Given the description of an element on the screen output the (x, y) to click on. 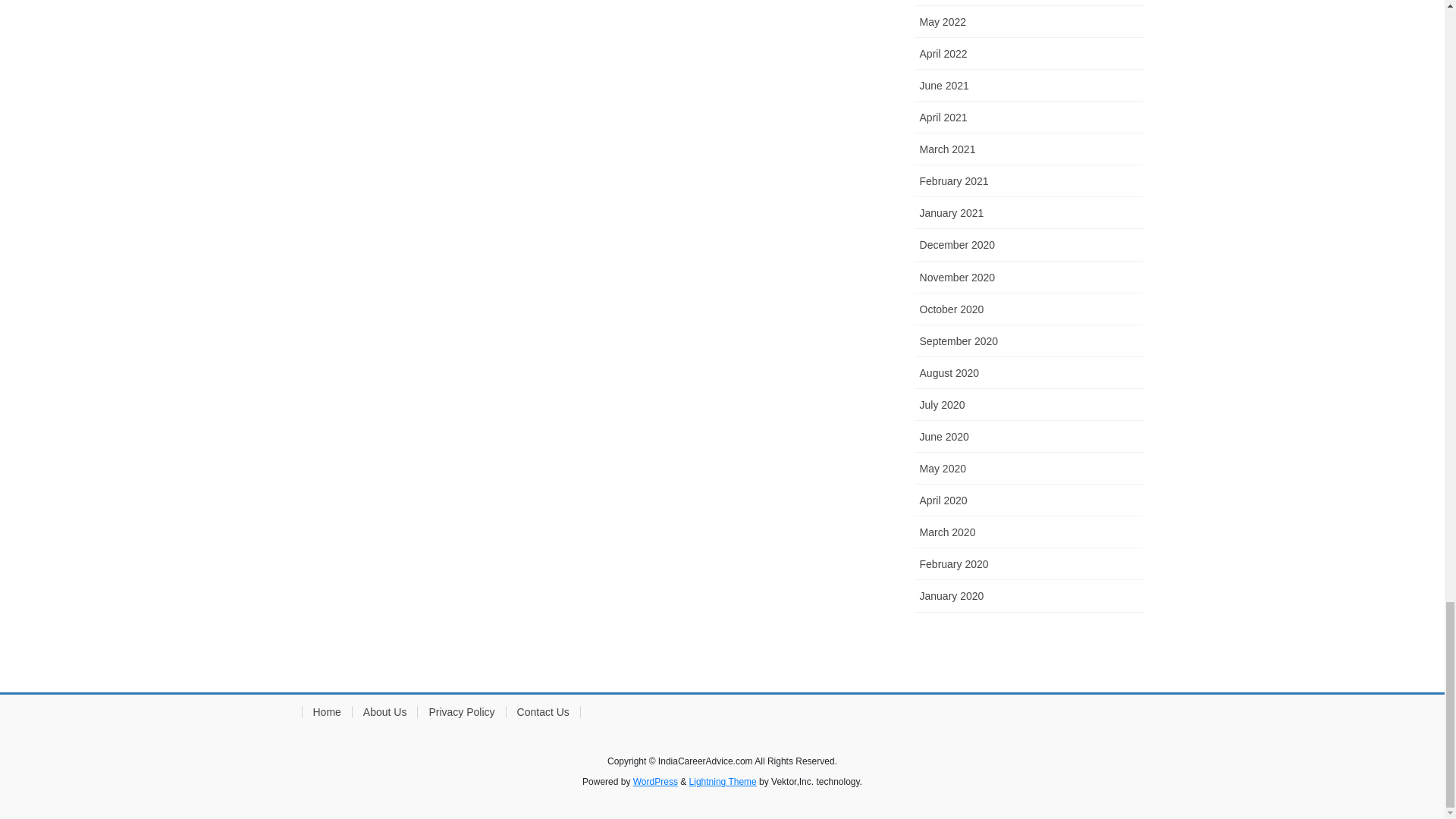
Free WordPress Theme Lightning (722, 781)
